Given the description of an element on the screen output the (x, y) to click on. 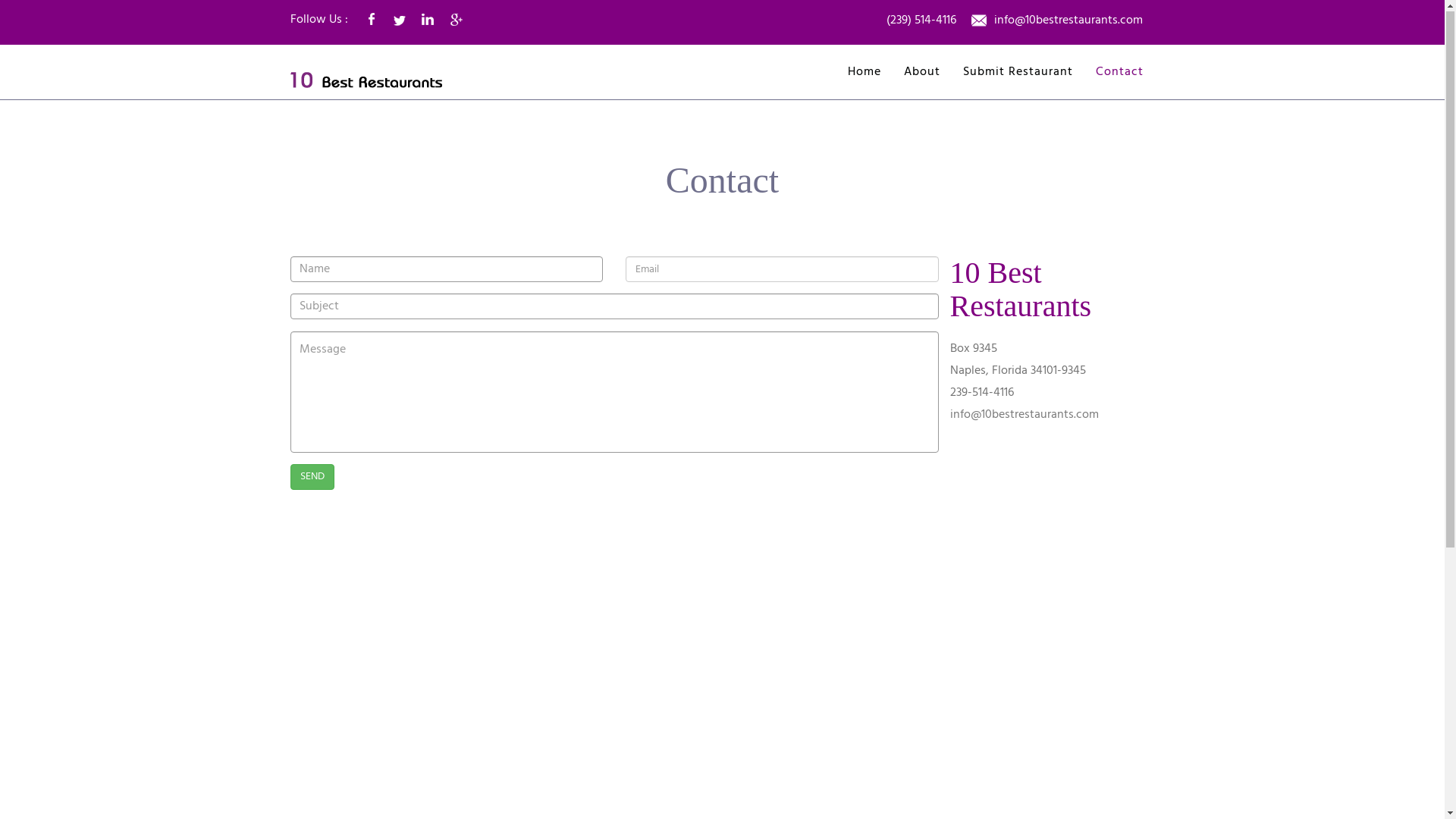
Home Element type: text (864, 72)
Submit Restaurant Element type: text (1018, 72)
info@10bestrestaurants.com Element type: text (1067, 21)
info@10bestrestaurants.com Element type: text (1023, 415)
SEND Element type: text (311, 477)
Contact Element type: text (1118, 72)
About Element type: text (921, 72)
